Given the description of an element on the screen output the (x, y) to click on. 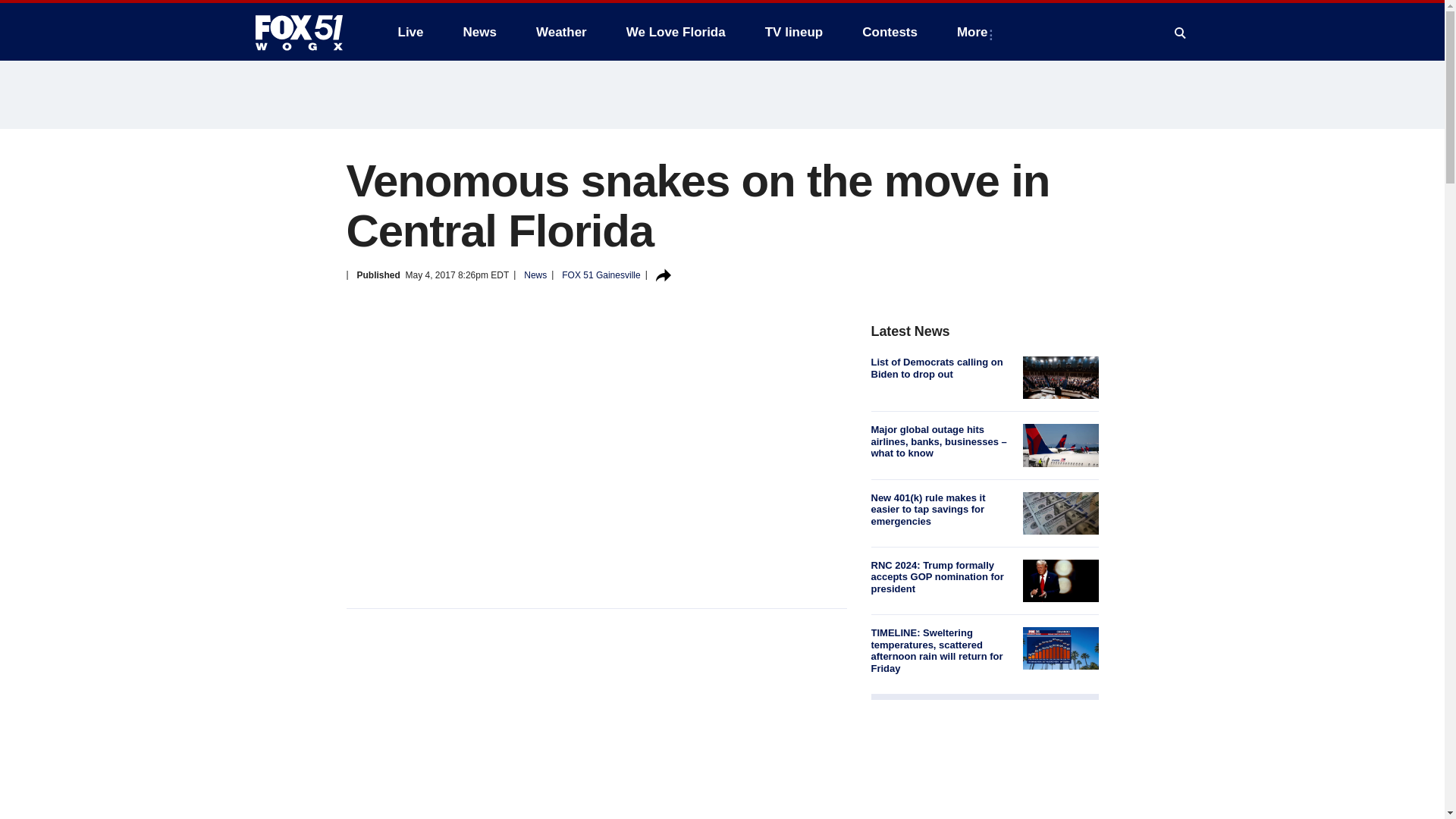
Live (410, 32)
Contests (890, 32)
Weather (561, 32)
TV lineup (793, 32)
News (479, 32)
We Love Florida (676, 32)
More (975, 32)
